Given the description of an element on the screen output the (x, y) to click on. 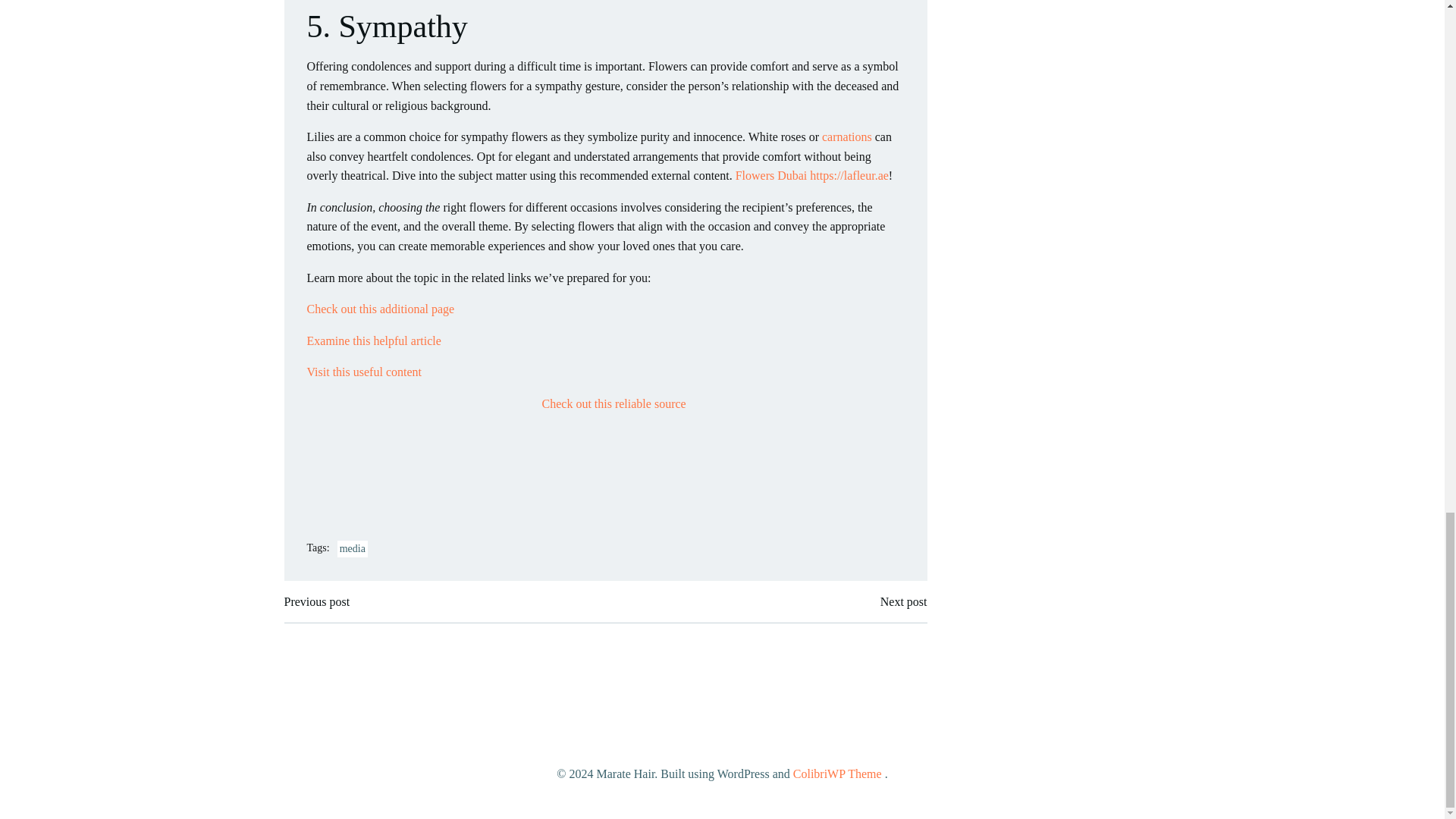
Visit this useful content (362, 371)
Examine this helpful article (373, 340)
media (352, 548)
Check out this reliable source (613, 403)
Next post (903, 601)
Previous post (316, 601)
Check out this additional page (379, 308)
carnations (847, 136)
ColibriWP Theme (837, 773)
Tag: media (352, 548)
